Given the description of an element on the screen output the (x, y) to click on. 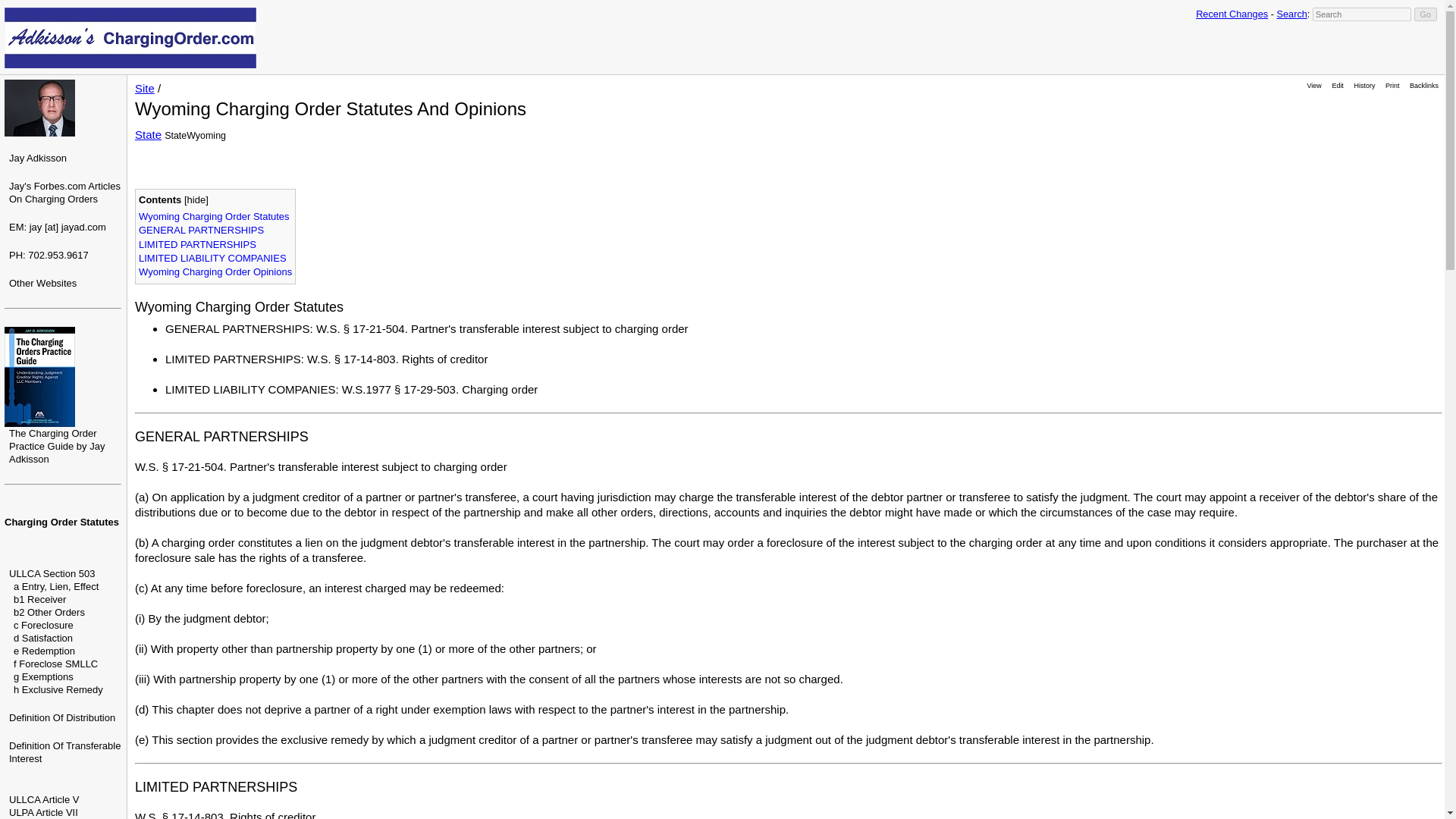
Other Websites (42, 283)
Jay's Forbes.com Articles On Charging Orders (64, 192)
Go (1425, 14)
ULPA Article VII (43, 812)
e Redemption (44, 650)
d Satisfaction (42, 637)
g Exemptions (43, 676)
The Charging Order Practice Guide by Jay Adkisson (56, 446)
b2 Other Orders (48, 612)
Go (1425, 14)
